Given the description of an element on the screen output the (x, y) to click on. 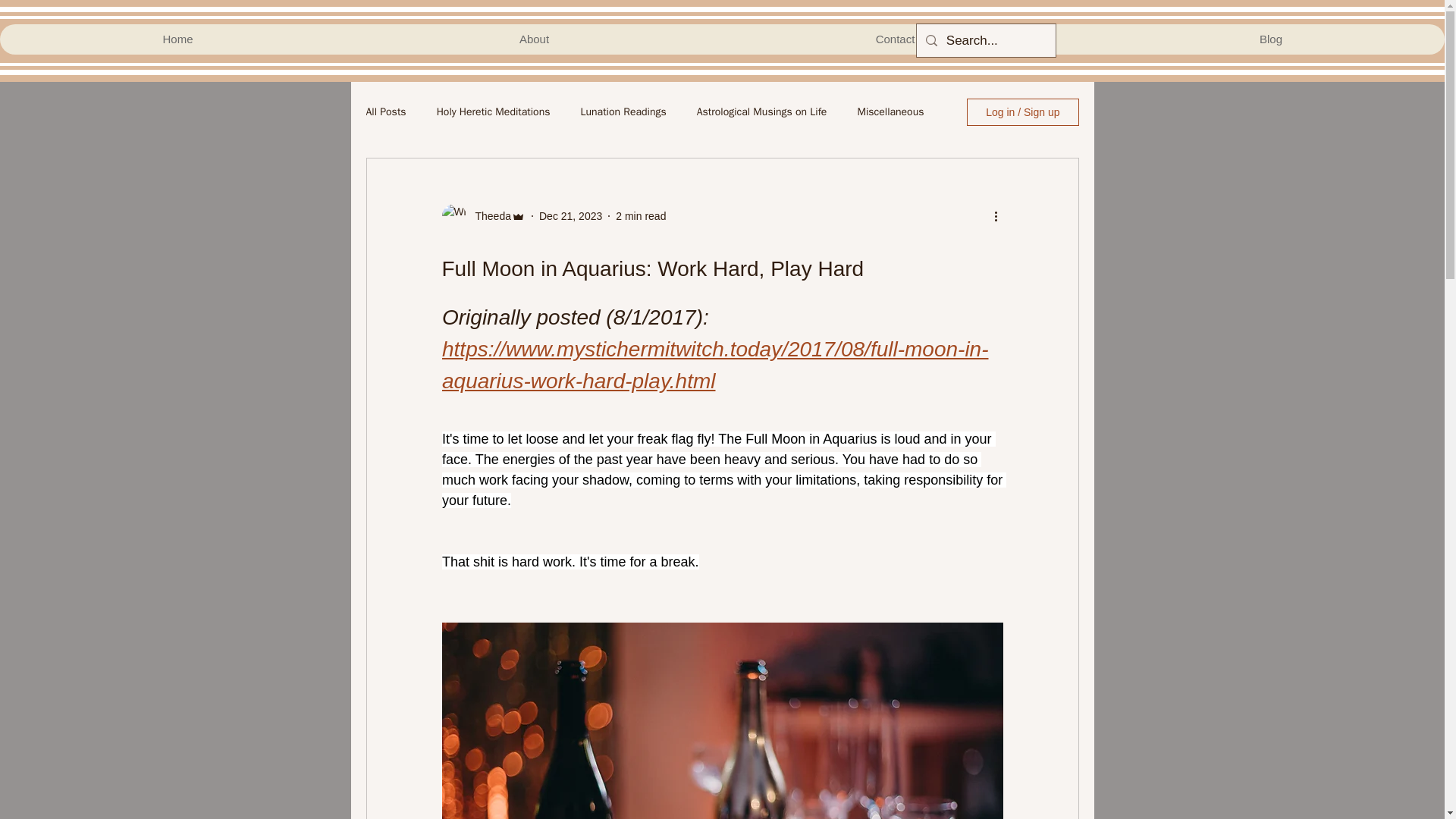
Contact Me (903, 39)
Miscellaneous (890, 111)
2 min read (640, 215)
Theeda  (488, 215)
About (533, 39)
Dec 21, 2023 (570, 215)
Home (177, 39)
Holy Heretic Meditations (493, 111)
Astrological Musings on Life (762, 111)
Lunation Readings (622, 111)
All Posts (385, 111)
